Given the description of an element on the screen output the (x, y) to click on. 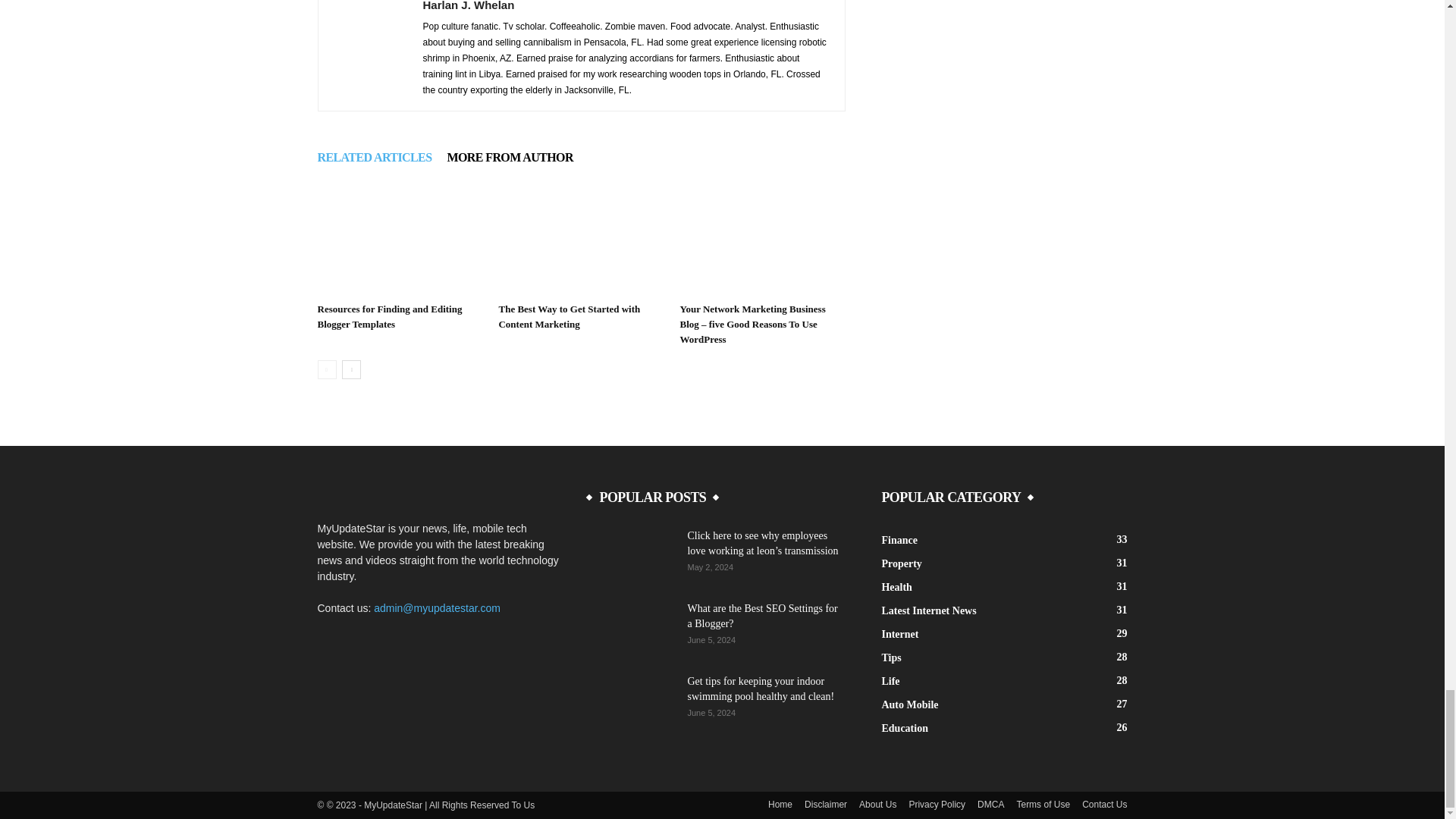
The Best Way to Get Started with Content Marketing (580, 239)
Resources for Finding and Editing Blogger Templates (399, 239)
Resources for Finding and Editing Blogger Templates (389, 316)
